Given the description of an element on the screen output the (x, y) to click on. 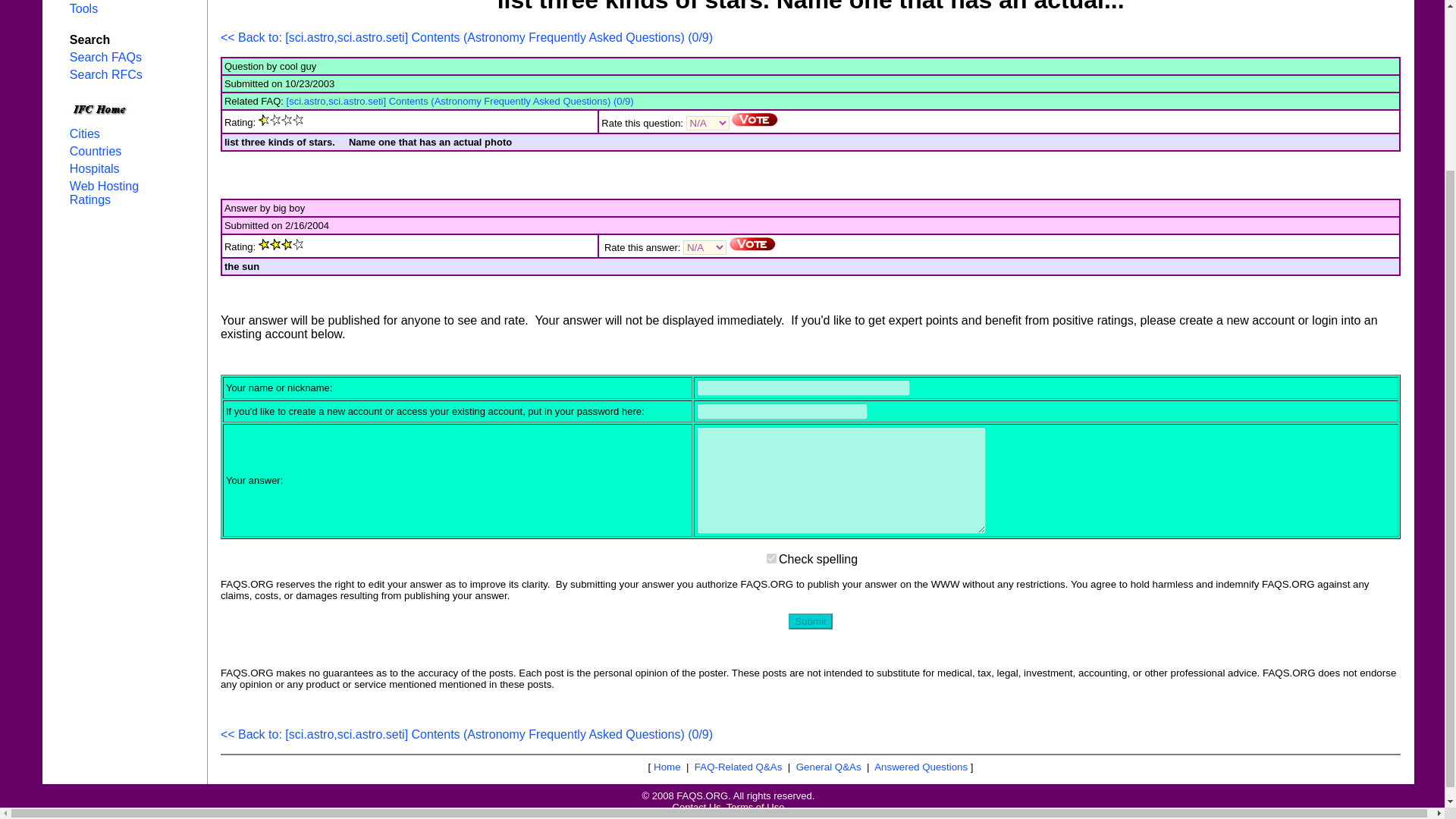
Search FAQs (105, 56)
Home (667, 767)
Terms of Use (755, 807)
Tools (83, 8)
Answered Questions (921, 767)
Search RFCs (105, 74)
Hospitals (94, 168)
Web Hosting Ratings (103, 192)
Submit (810, 621)
ON (771, 558)
Countries (94, 151)
Cities (84, 133)
Contact Us (696, 807)
